Given the description of an element on the screen output the (x, y) to click on. 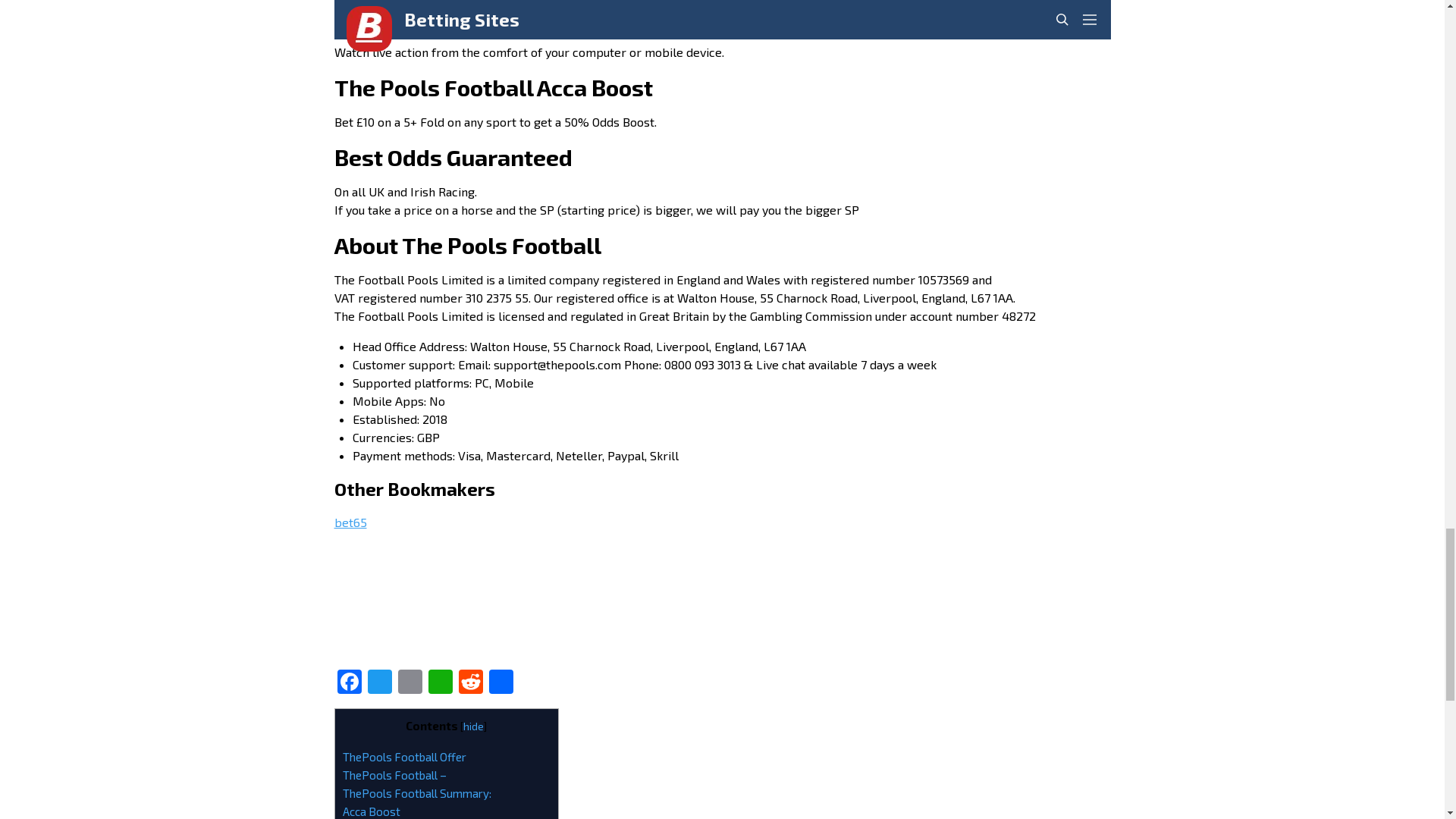
bet65 (349, 522)
ThePools Football Summary: (417, 793)
Acca Boost (371, 811)
Reddit (469, 682)
ThePools Football Offer (403, 756)
Facebook (348, 682)
Twitter (379, 682)
Email (409, 682)
Email (409, 682)
WhatsApp (439, 682)
